Given the description of an element on the screen output the (x, y) to click on. 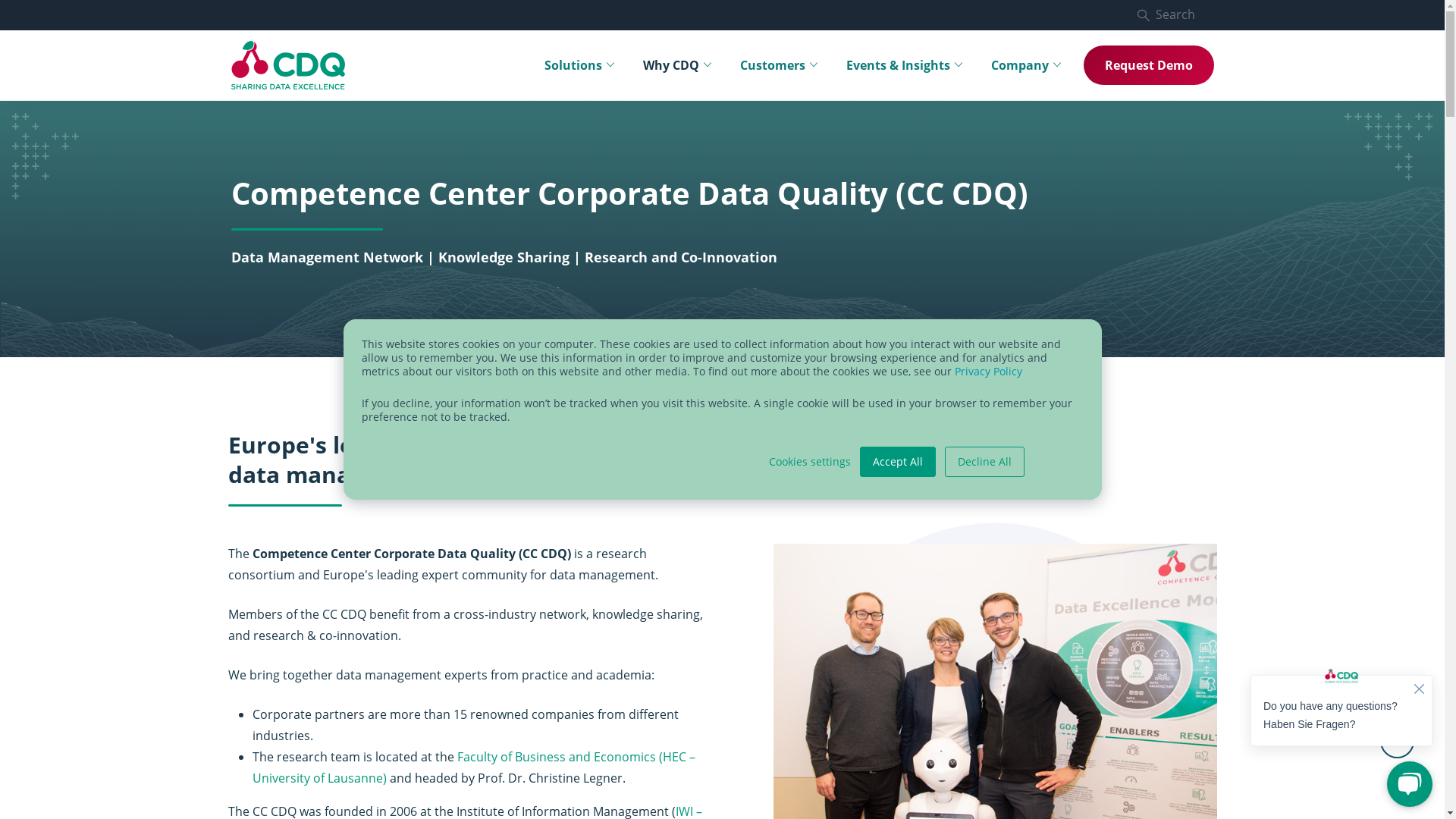
Search Element type: text (1174, 15)
Toggle submenu Element type: text (961, 65)
Toggle submenu Element type: text (817, 65)
CDQ Data Quality Solutions & Services Element type: hover (287, 64)
Toggle submenu Element type: text (710, 65)
Request Demo Element type: text (1147, 64)
Decline All Element type: text (984, 461)
Toggle submenu Element type: text (1059, 65)
Cookies settings Element type: text (809, 461)
Privacy Policy Element type: text (987, 371)
Accept All Element type: text (897, 461)
Toggle submenu Element type: text (613, 65)
